Given the description of an element on the screen output the (x, y) to click on. 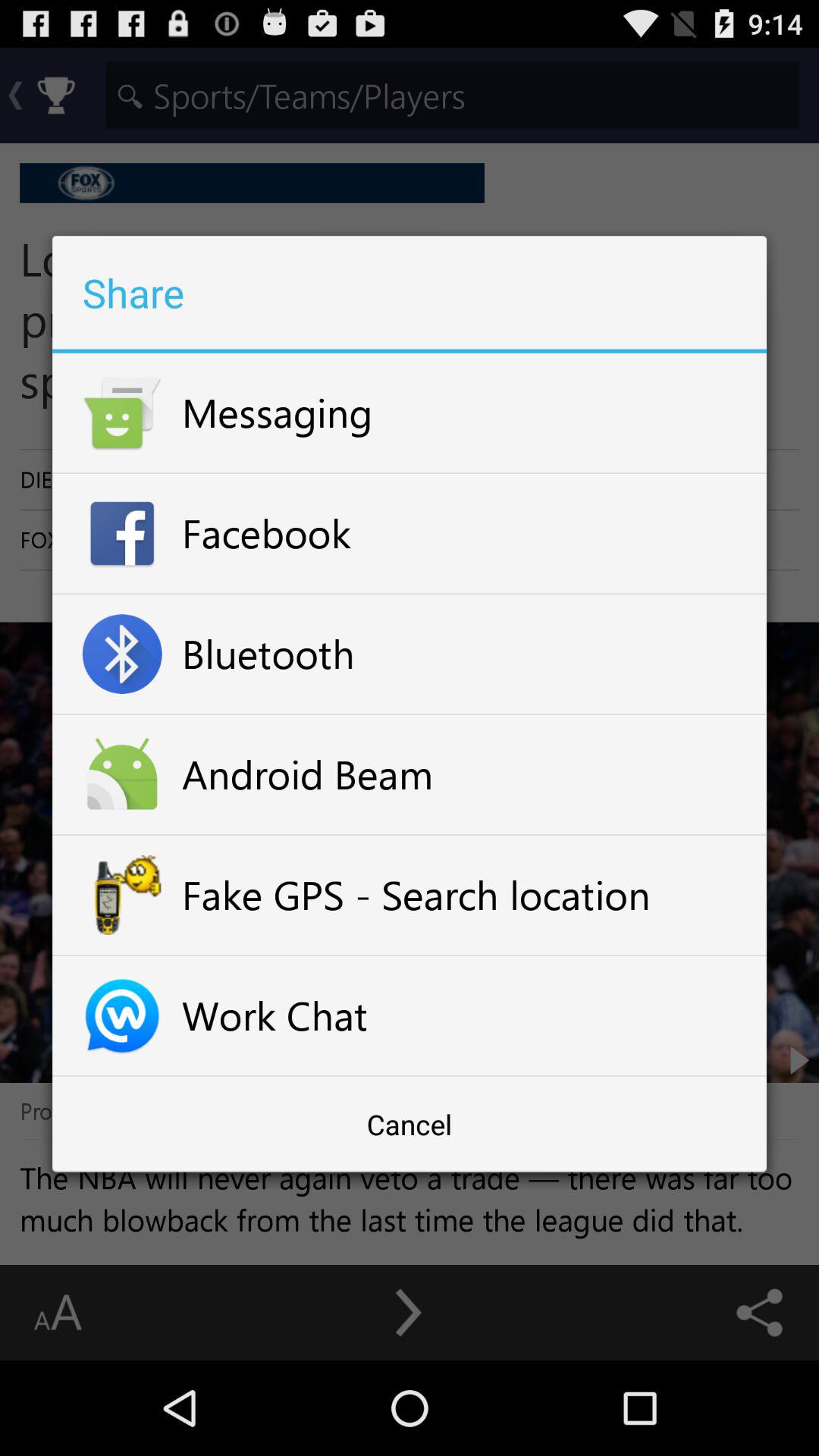
flip to cancel button (409, 1124)
